Given the description of an element on the screen output the (x, y) to click on. 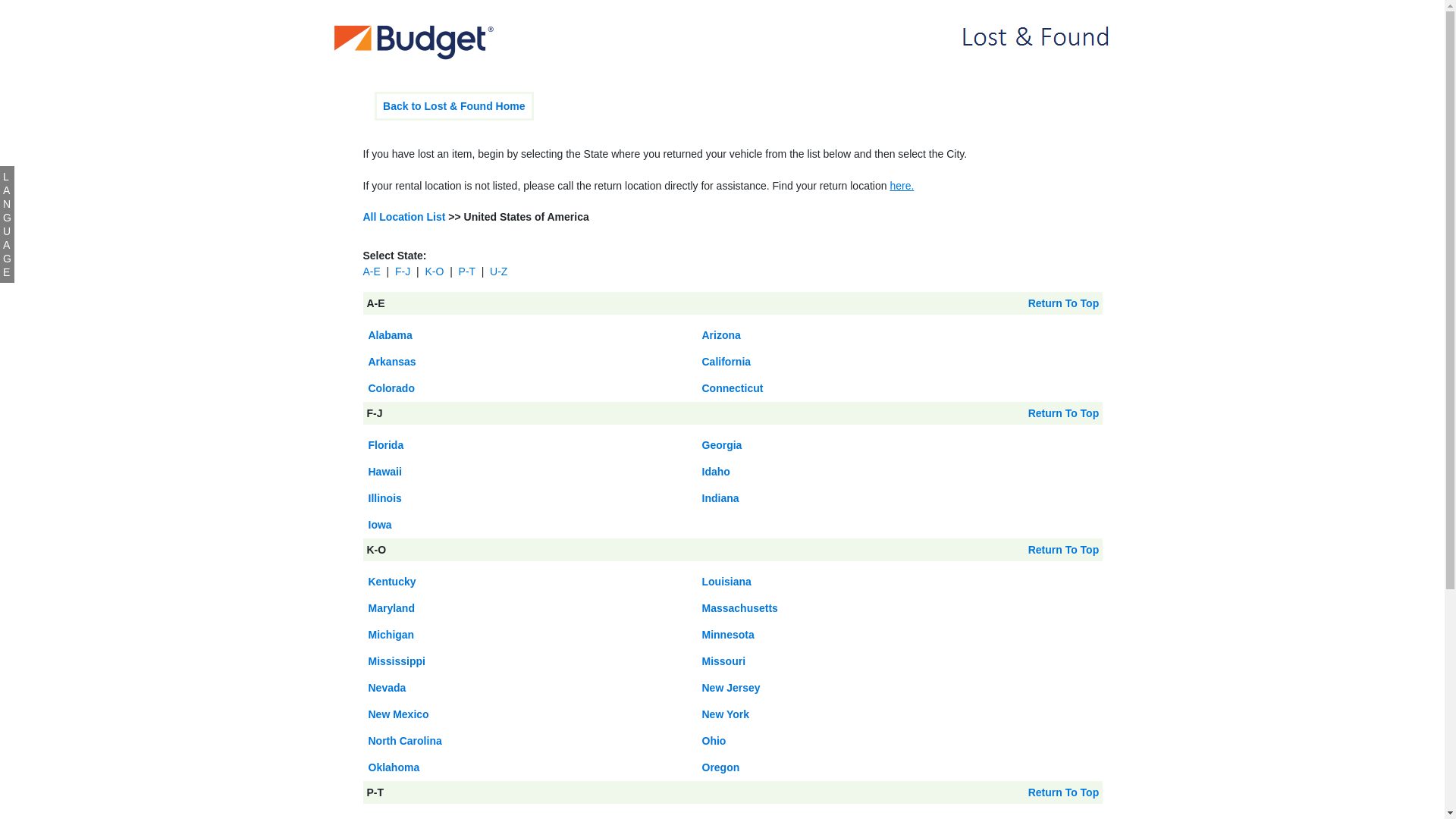
New Mexico (398, 714)
Arizona (721, 335)
Minnesota (727, 634)
All Location List (403, 216)
Return To Top (1063, 413)
Ohio (713, 740)
Indiana (720, 498)
F-J (402, 271)
New York (725, 714)
Massachusetts (739, 607)
here. (901, 185)
Missouri (723, 661)
Maryland (391, 607)
Mississippi (396, 661)
P-T (467, 271)
